Given the description of an element on the screen output the (x, y) to click on. 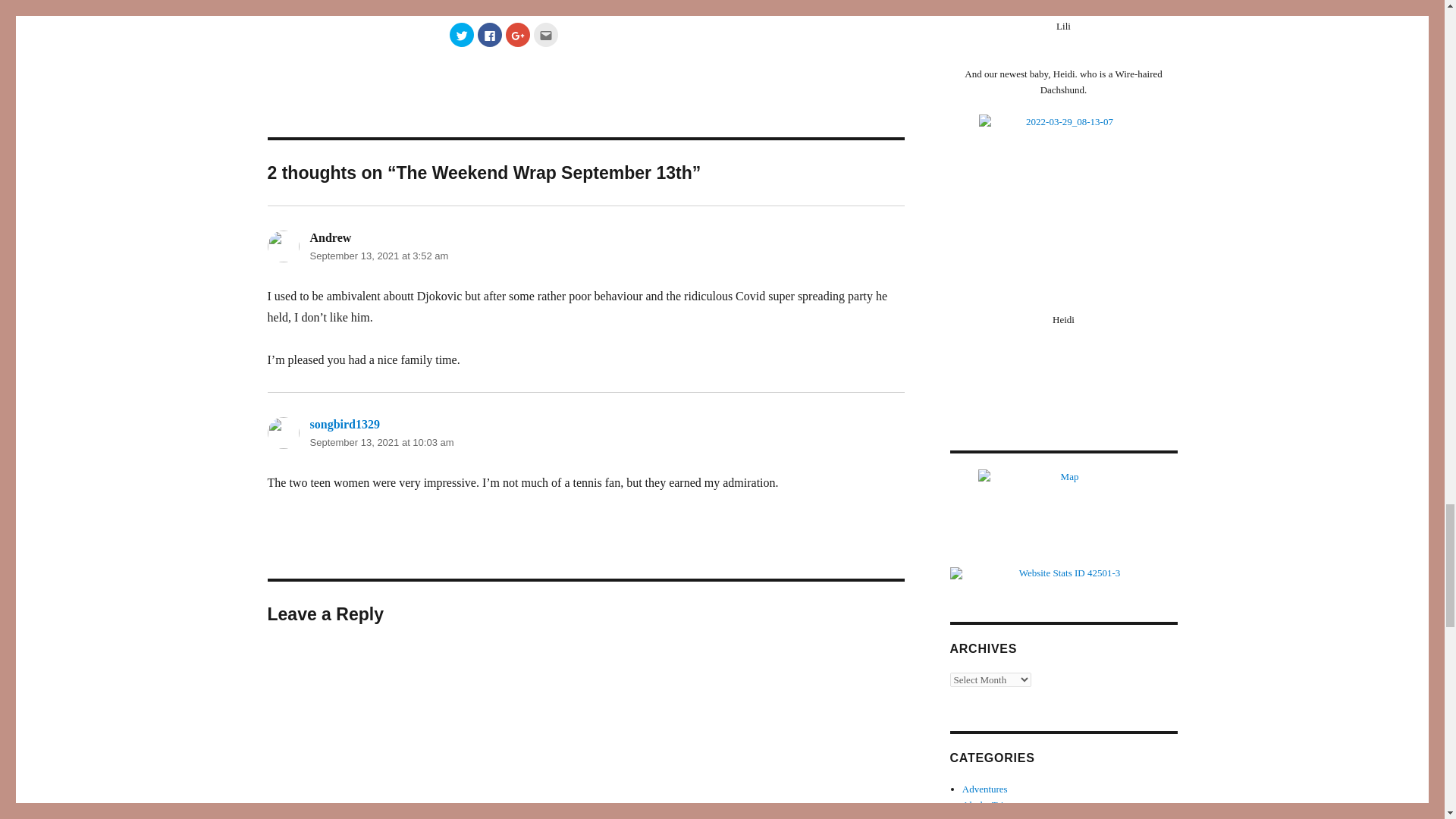
Click to share on Facebook (489, 34)
songbird1329 (343, 423)
September 13, 2021 at 10:03 am (380, 441)
Click to share on Twitter (460, 34)
Click to email this to a friend (545, 34)
September 13, 2021 at 3:52 am (378, 255)
Adventures (984, 788)
Comment Form (585, 733)
Alaska Trip (985, 804)
Amanda (978, 816)
